Given the description of an element on the screen output the (x, y) to click on. 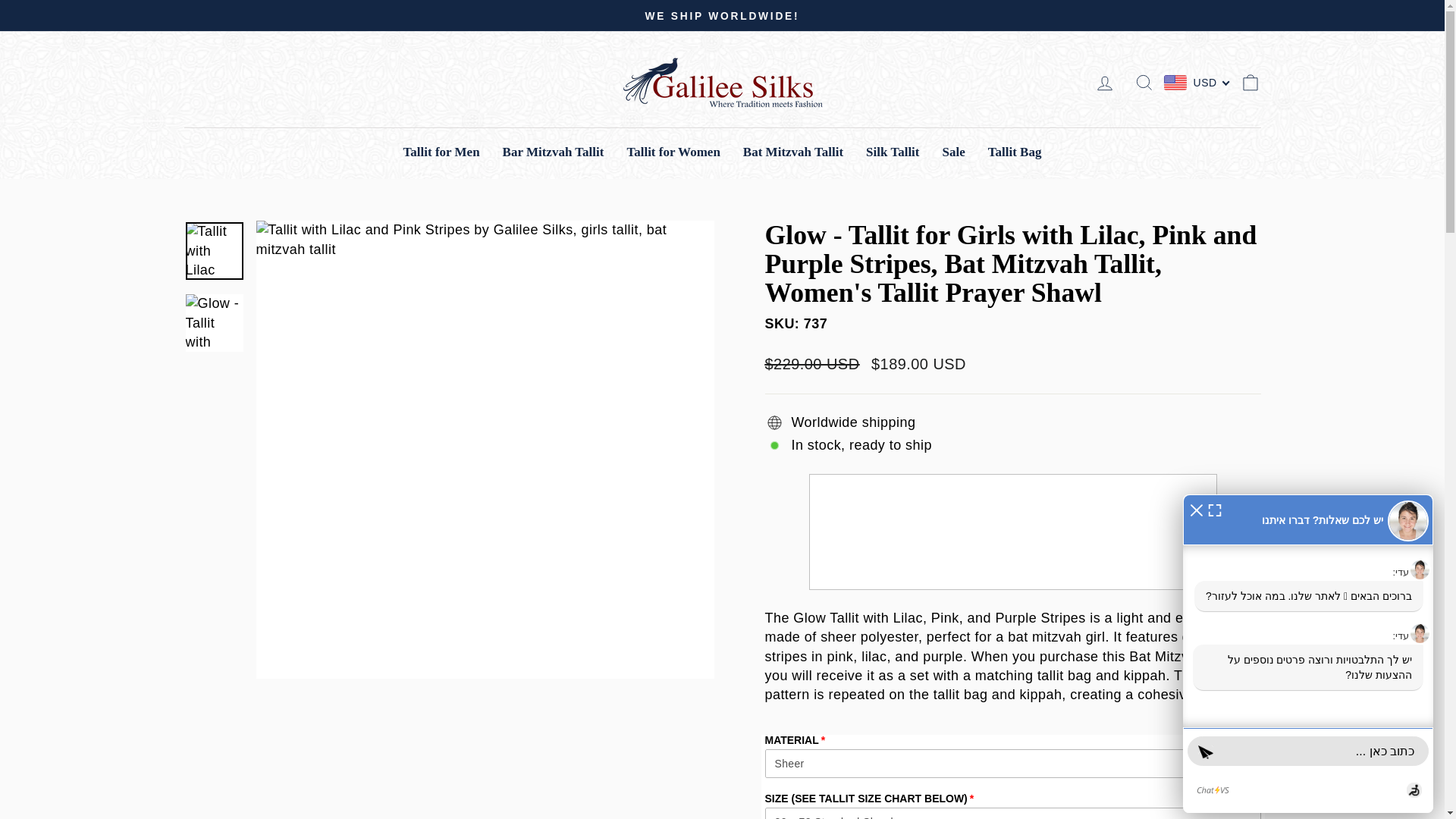
Sale (953, 151)
Tallit Bag (1014, 151)
Tallit for Men (441, 151)
Bat Mitzvah Tallit (793, 151)
Tallit for Women (672, 151)
Log in (1104, 82)
Silk Tallit (892, 151)
Bar Mitzvah Tallit (553, 151)
Search (1143, 82)
Cart (1249, 82)
